Given the description of an element on the screen output the (x, y) to click on. 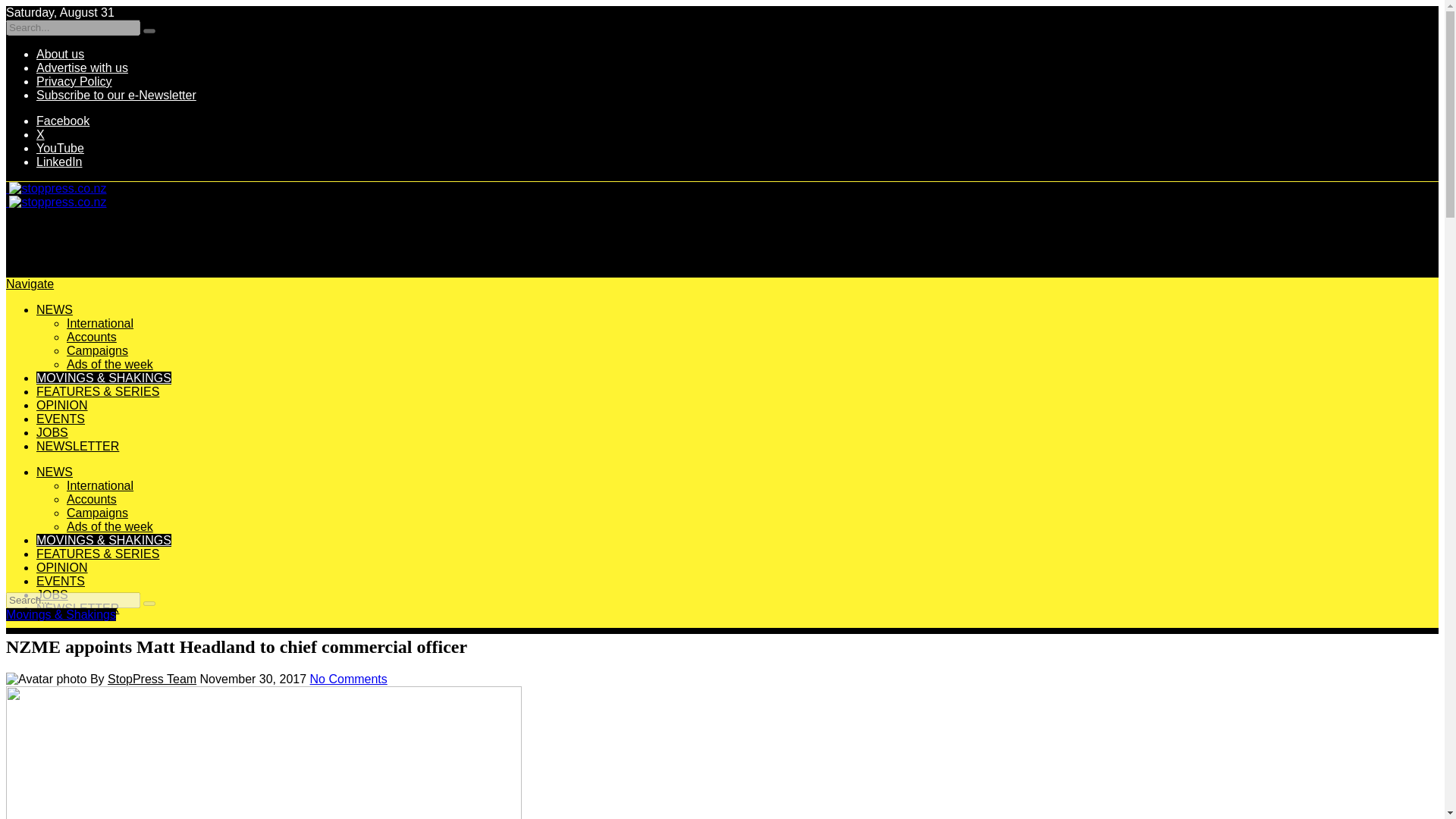
LinkedIn (59, 161)
Campaigns (97, 350)
Ads of the week (109, 364)
About us (60, 53)
International (99, 485)
YouTube (60, 147)
JOBS (52, 594)
Ads of the week (109, 526)
Accounts (91, 499)
OPINION (61, 404)
